Given the description of an element on the screen output the (x, y) to click on. 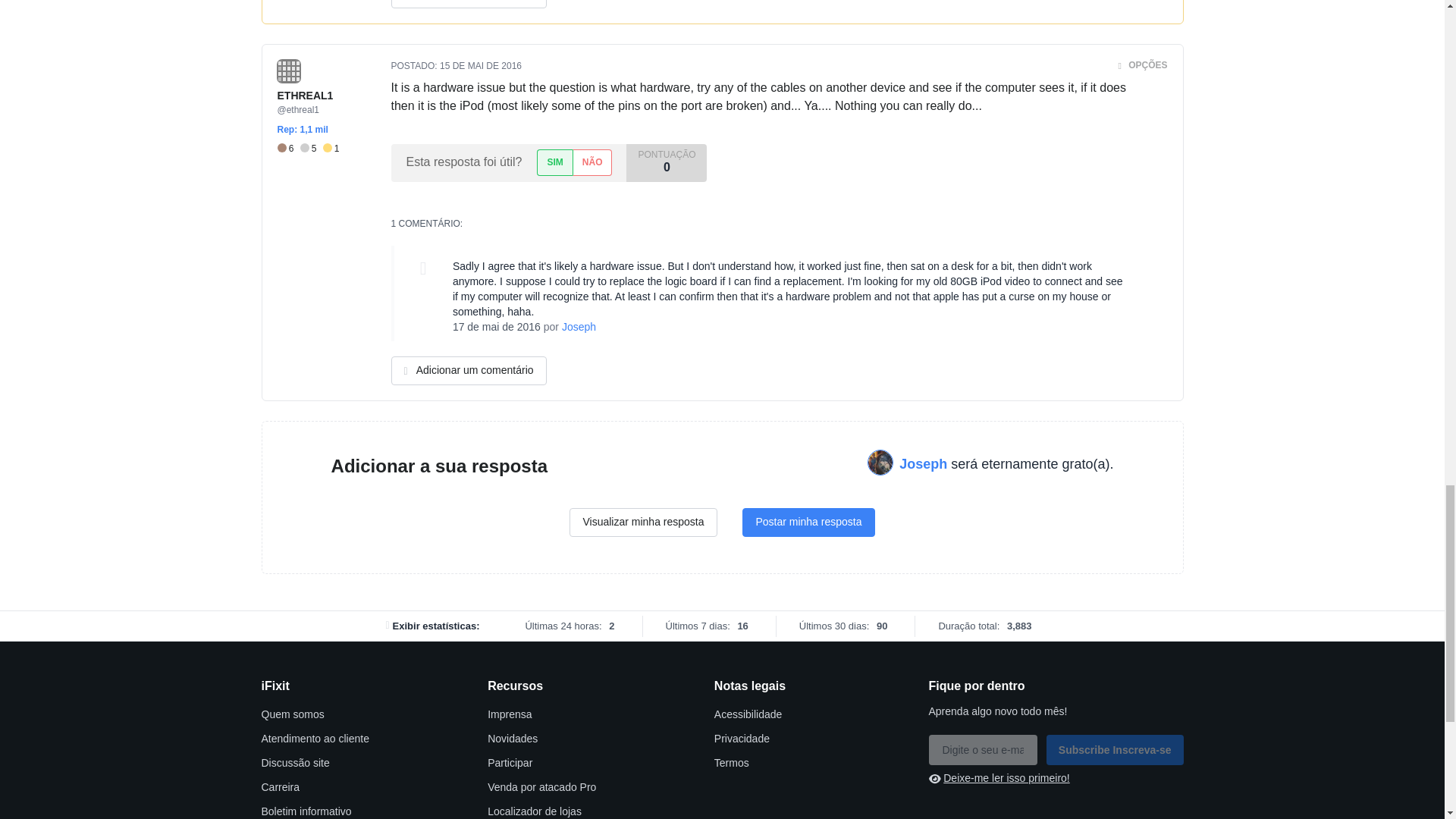
1 emblemas de Ouro (331, 148)
Tue, 17 May 2016 08:23:33 -0700 (496, 326)
6 emblemas de Bronze (288, 148)
5 emblemas de Prata (311, 148)
Sun, 15 May 2016 18:48:19 -0700 (480, 65)
